Given the description of an element on the screen output the (x, y) to click on. 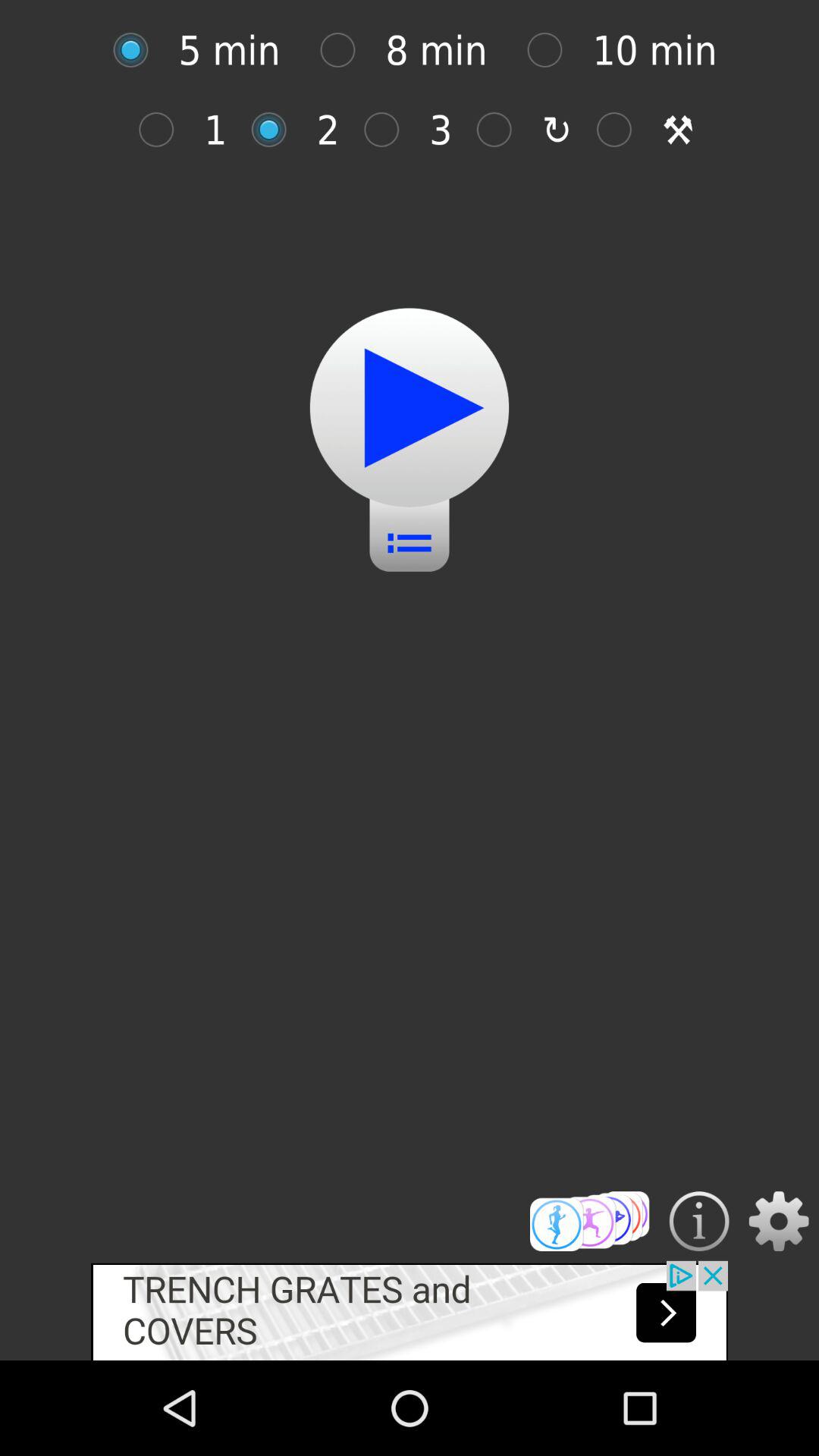
select option (552, 49)
